Given the description of an element on the screen output the (x, y) to click on. 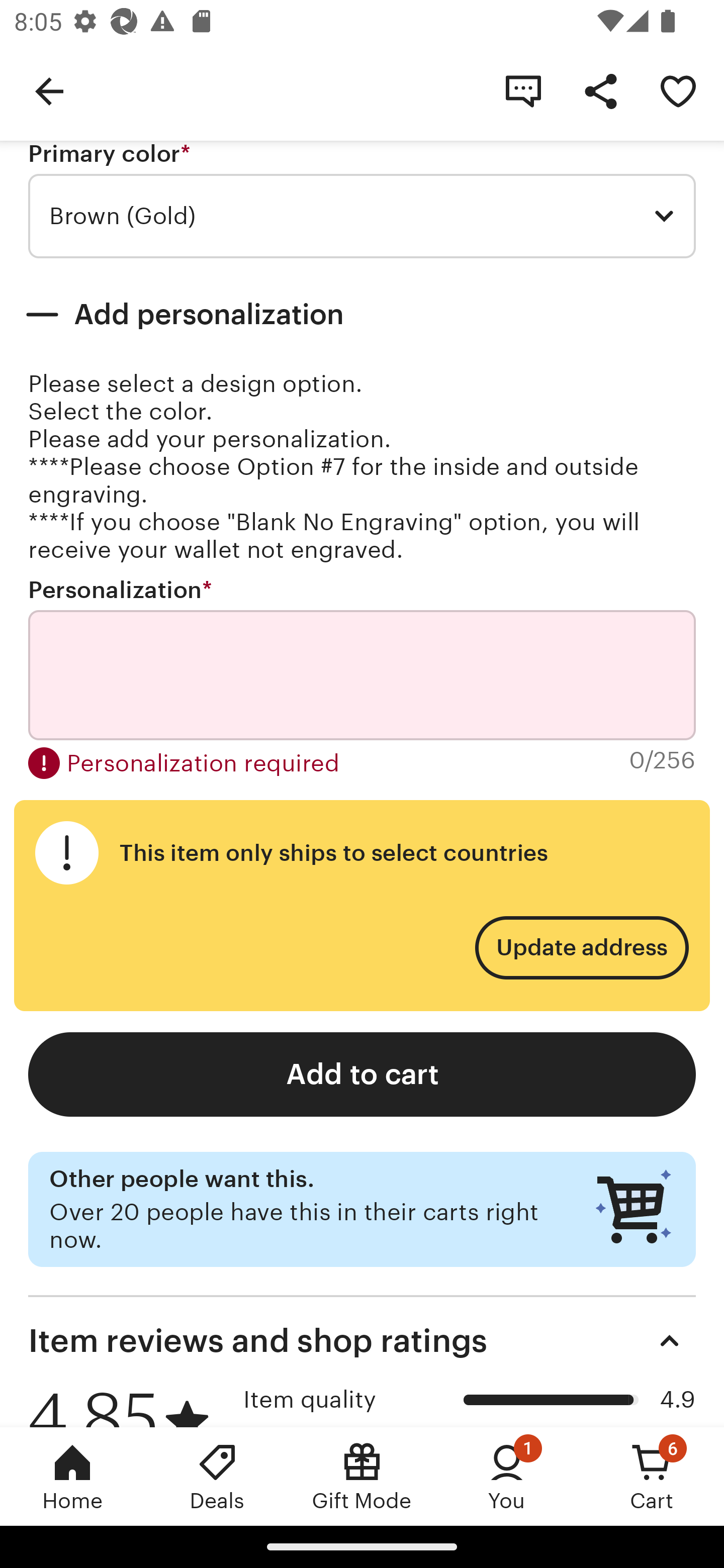
Navigate up (49, 90)
Contact shop (523, 90)
Share (600, 90)
Primary color * Required Brown (Gold) (361, 199)
Brown (Gold) (361, 216)
Add personalization Add personalization Required (362, 314)
Update address (581, 947)
Add to cart (361, 1073)
Item reviews and shop ratings (362, 1340)
Deals (216, 1475)
Gift Mode (361, 1475)
You, 1 new notification You (506, 1475)
Cart, 6 new notifications Cart (651, 1475)
